Given the description of an element on the screen output the (x, y) to click on. 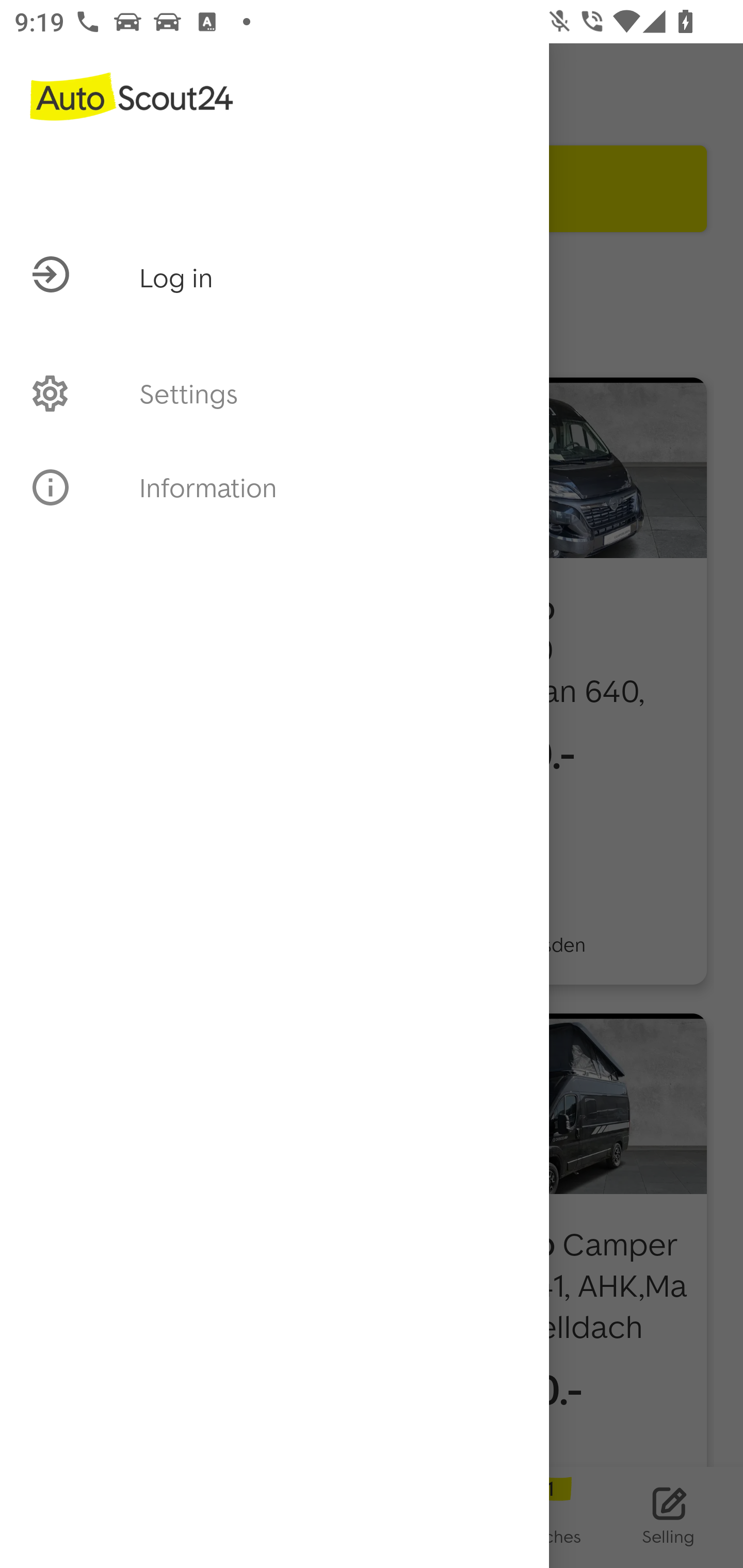
PROFILE Settings (274, 393)
INFO Information (274, 487)
